Given the description of an element on the screen output the (x, y) to click on. 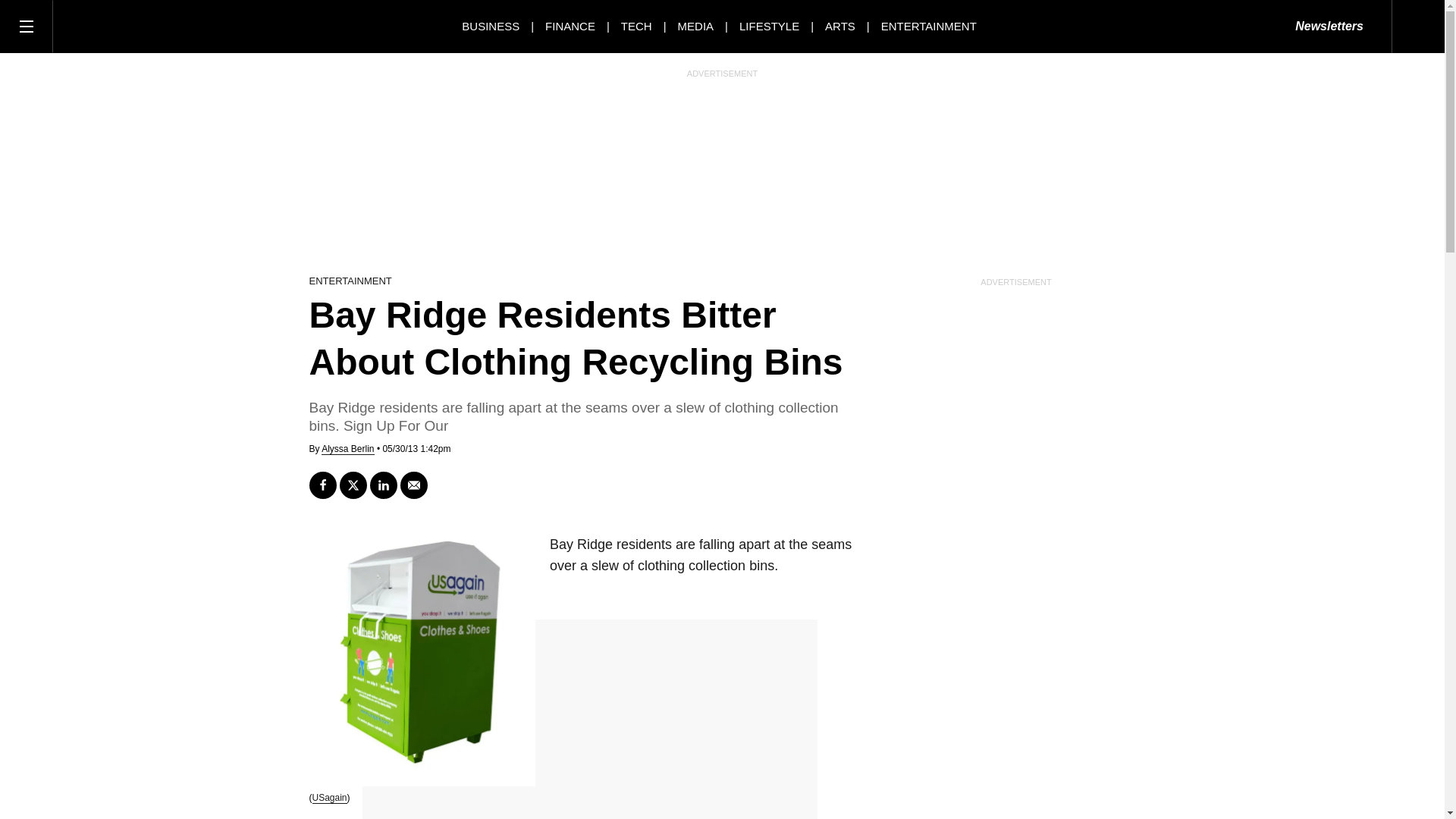
Observer (121, 26)
Tweet (352, 484)
TECH (636, 25)
MEDIA (696, 25)
FINANCE (569, 25)
Share on Facebook (322, 484)
Share on LinkedIn (383, 484)
LIFESTYLE (769, 25)
Newsletters (1329, 26)
View All Posts by Alyssa Berlin (347, 449)
ENTERTAINMENT (928, 25)
Send email (414, 484)
BUSINESS (490, 25)
ARTS (840, 25)
